Given the description of an element on the screen output the (x, y) to click on. 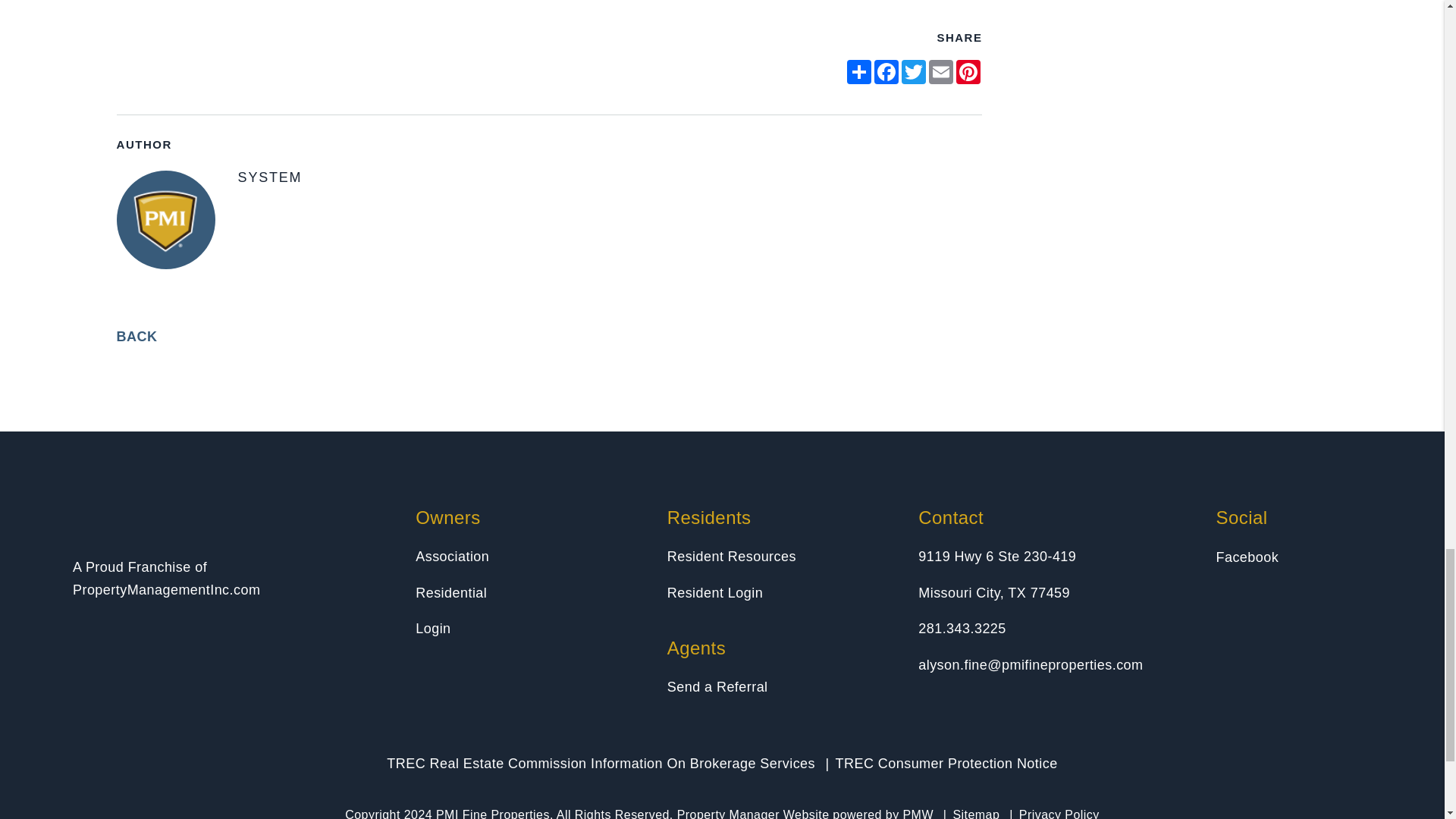
opens in new window (913, 71)
opens in new window (858, 71)
opens in new window (885, 71)
